Given the description of an element on the screen output the (x, y) to click on. 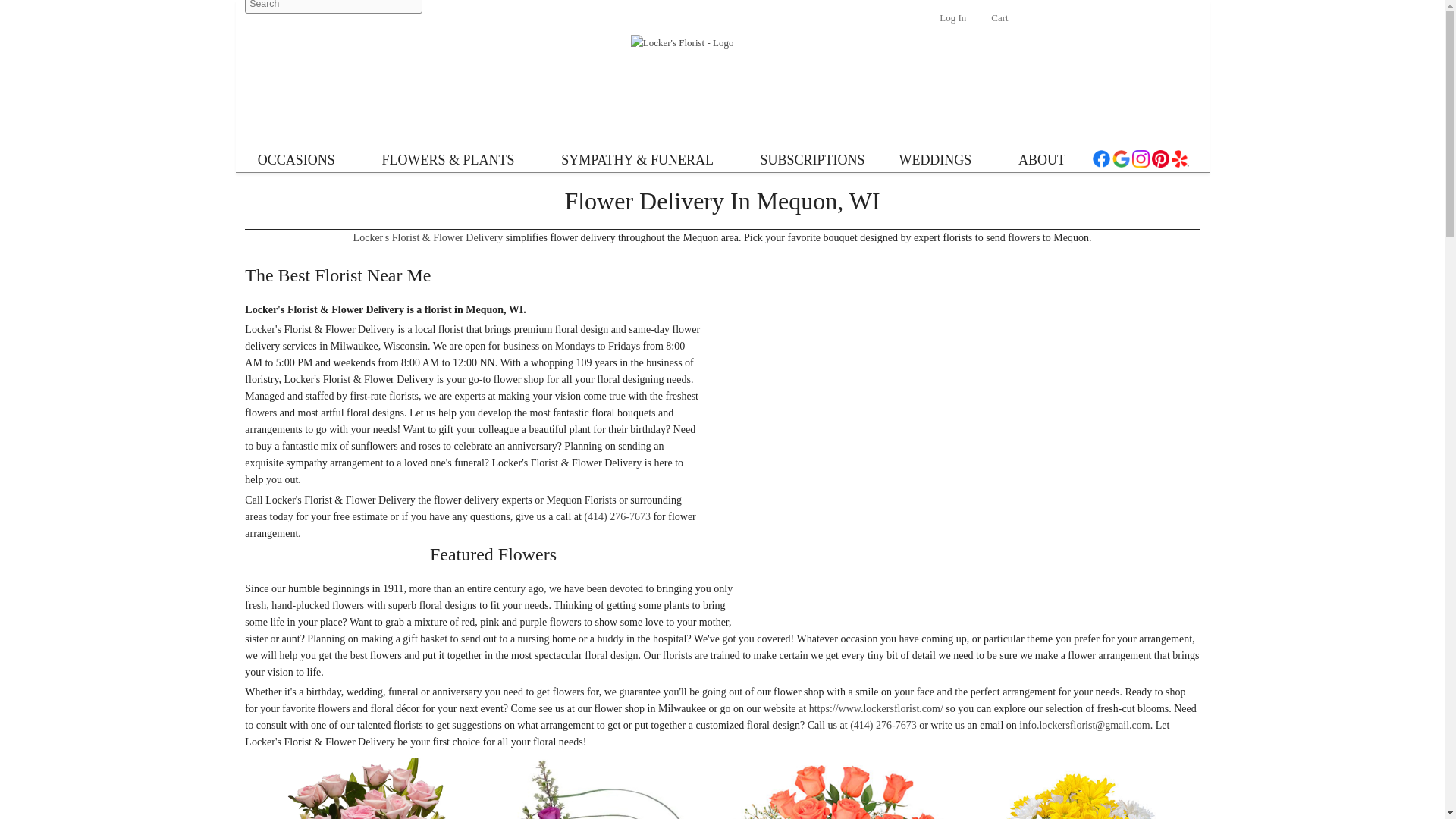
Go (411, 7)
Cart (997, 23)
Search (333, 7)
Log In (949, 21)
OCCASIONS (302, 162)
log In (949, 21)
